Given the description of an element on the screen output the (x, y) to click on. 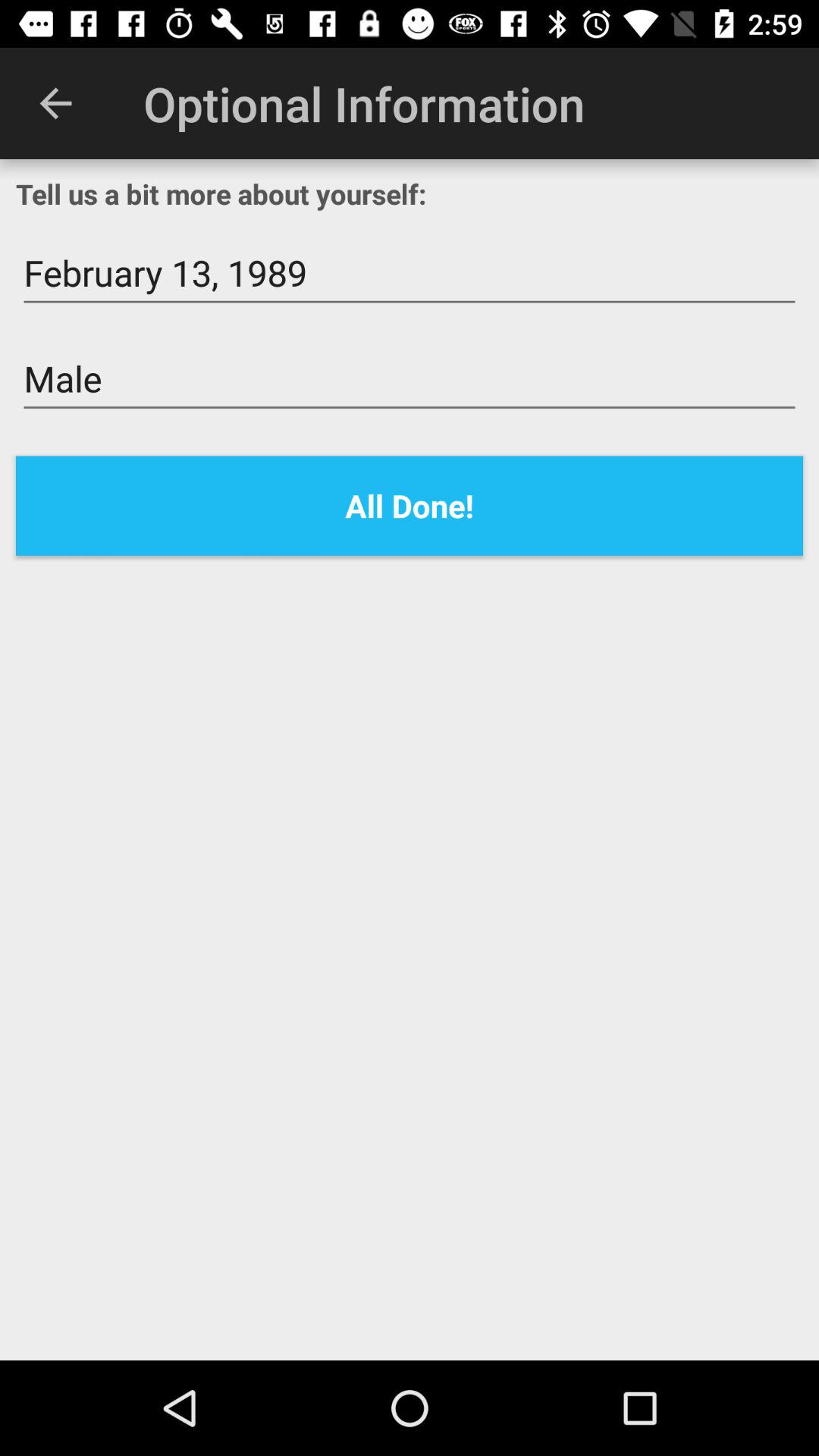
turn off item above the all done! (409, 379)
